Given the description of an element on the screen output the (x, y) to click on. 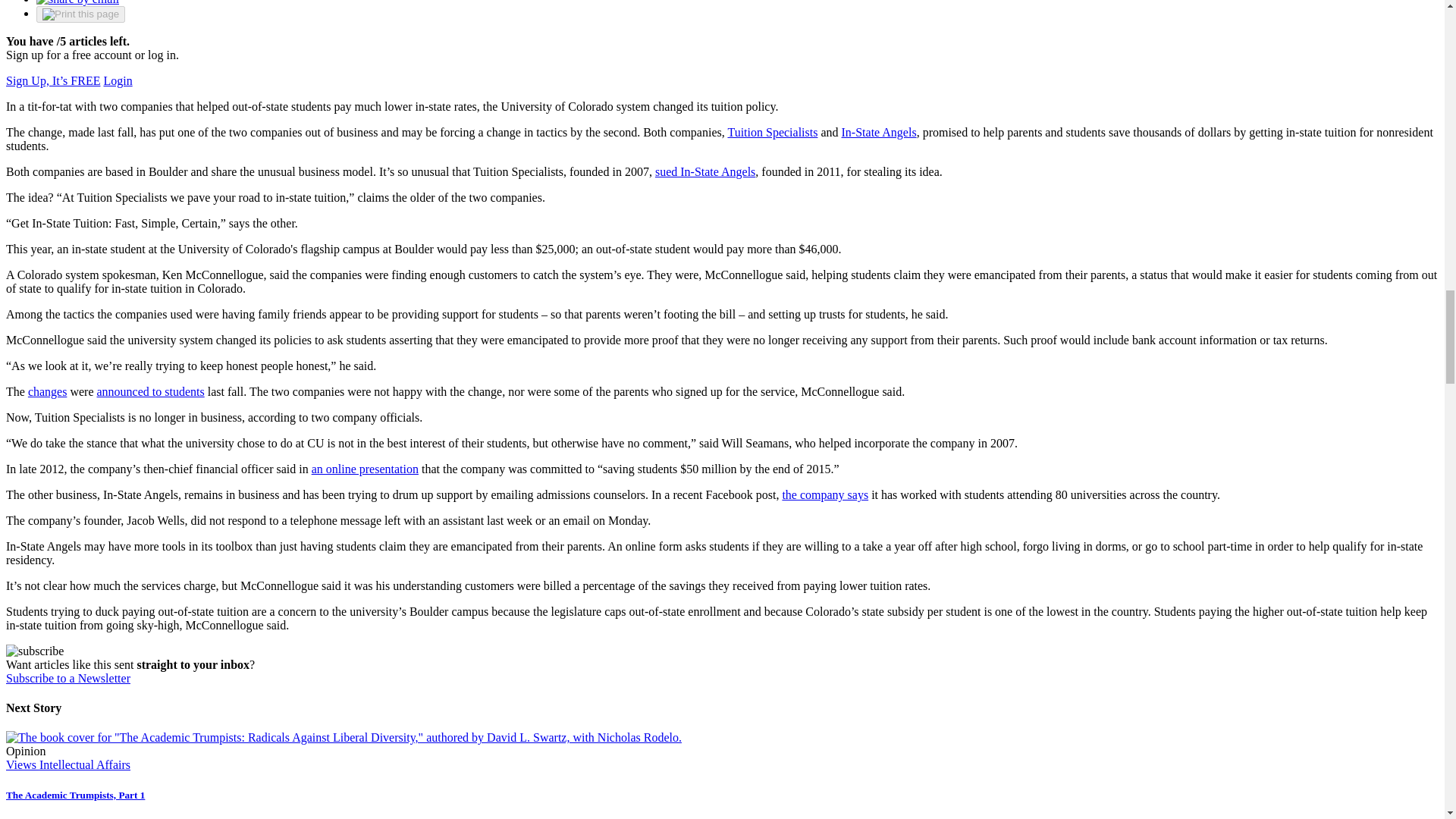
share by email (77, 2)
